Given the description of an element on the screen output the (x, y) to click on. 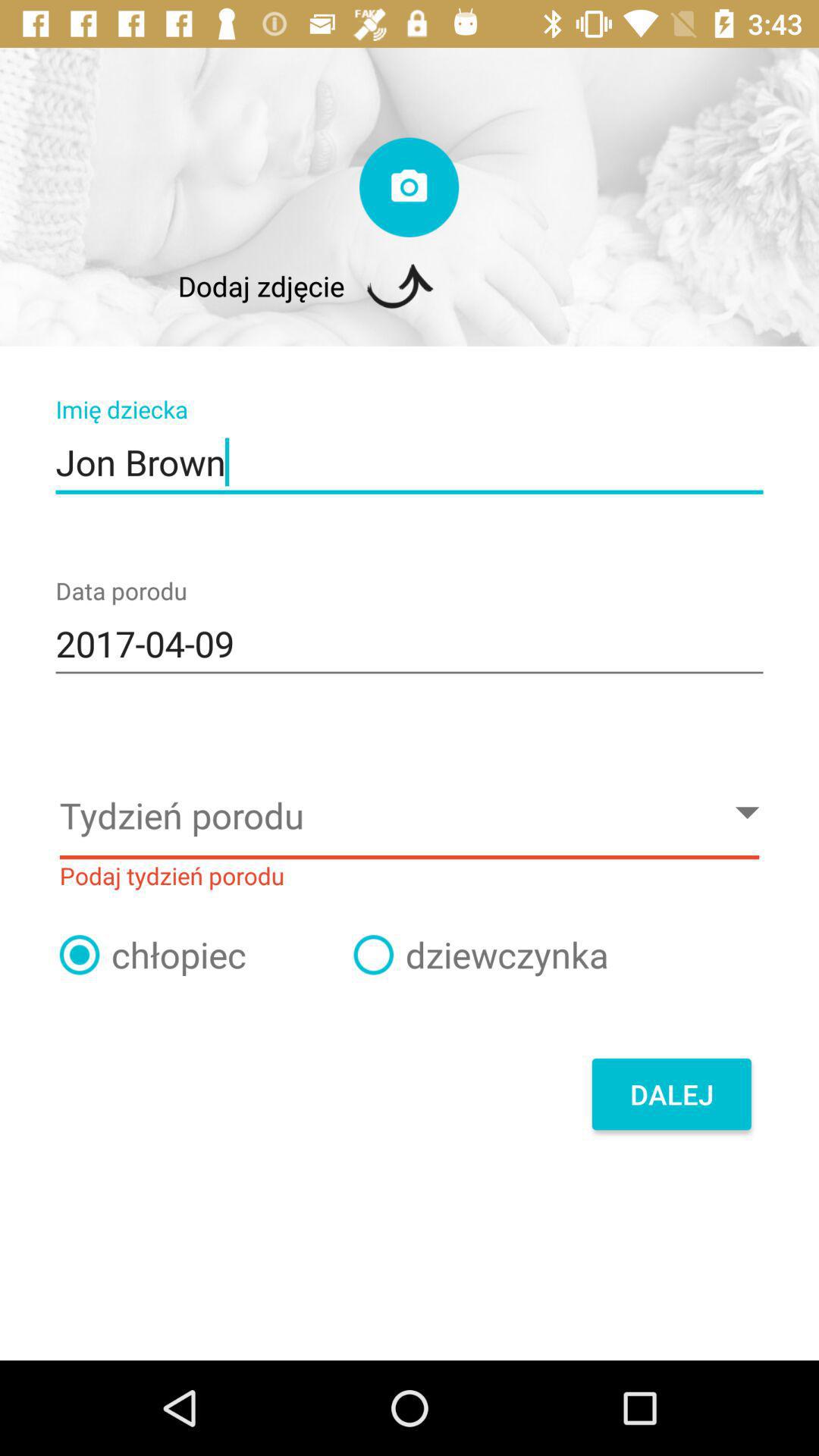
take a photo (408, 187)
